Given the description of an element on the screen output the (x, y) to click on. 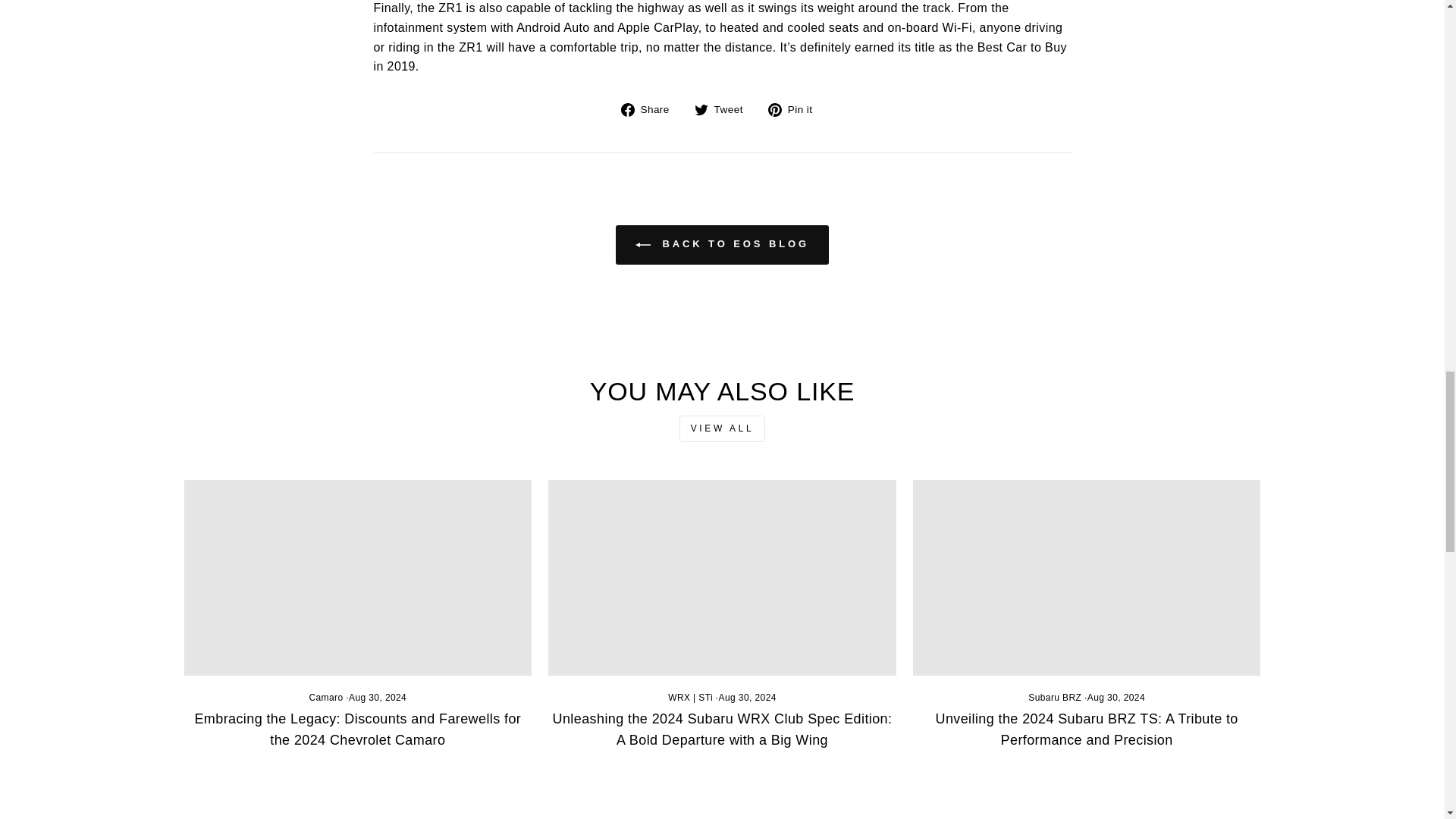
Pin on Pinterest (796, 108)
Share on Facebook (651, 108)
Tweet on Twitter (724, 108)
